Given the description of an element on the screen output the (x, y) to click on. 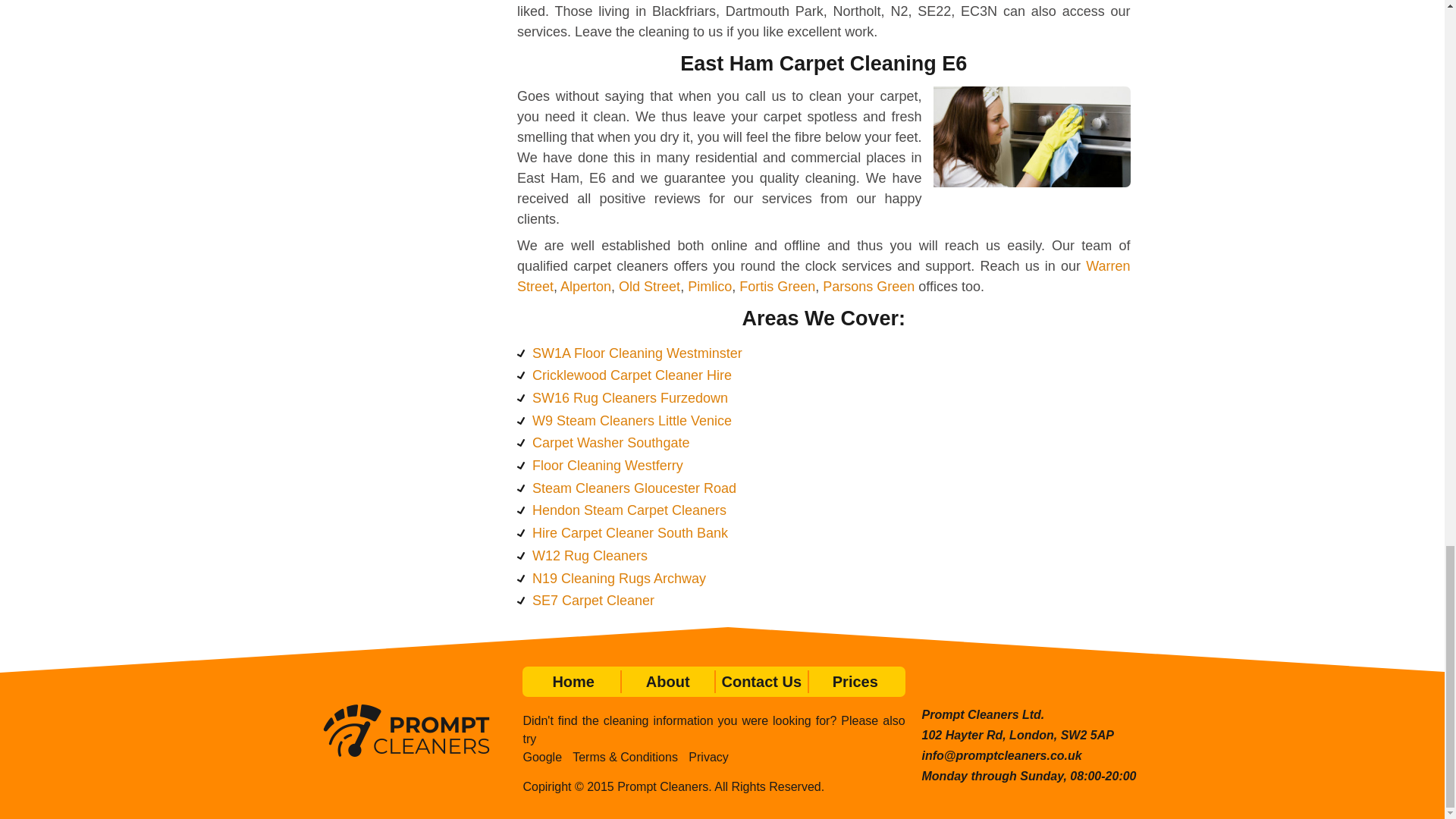
Pimlico (709, 286)
Hire Carpet Cleaner South Bank (630, 532)
W12 Rug Cleaners (589, 555)
Hendon Steam Carpet Cleaners (629, 509)
SW16 Rug Cleaners Furzedown (630, 397)
Steam Cleaners Gloucester Road (634, 488)
Carpet Washer Southgate (610, 442)
Alperton (585, 286)
N19 Cleaning Rugs Archway (619, 578)
SW1A Floor Cleaning Westminster (637, 353)
Parsons Green (868, 286)
Fortis Green (777, 286)
Old Street (648, 286)
Floor Cleaning Westferry (607, 465)
Cricklewood Carpet Cleaner Hire (632, 375)
